Given the description of an element on the screen output the (x, y) to click on. 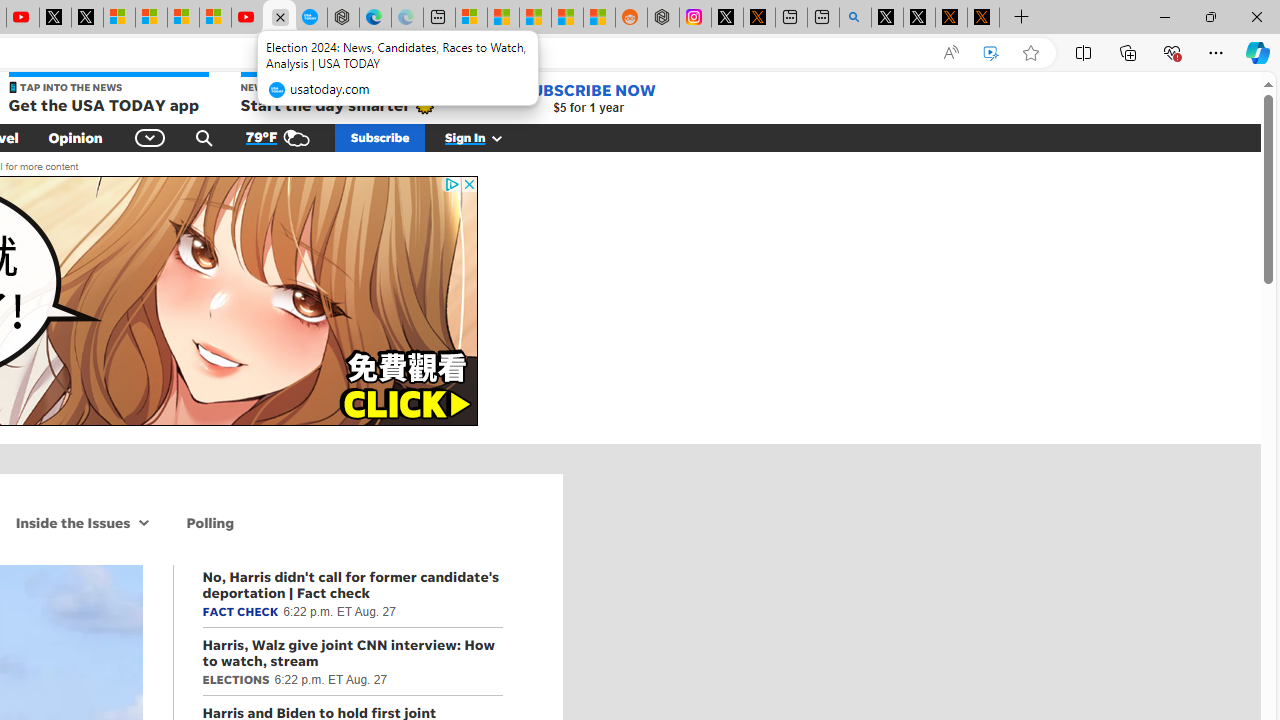
Class: gnt_sn_a_svg gnt_sn_a__db_svg (144, 522)
Profile / X (886, 17)
More Inside the Issues navigation (143, 521)
Microsoft account | Microsoft Account Privacy Settings (471, 17)
Class: gnt_n_dd_bt_svg (150, 137)
